Given the description of an element on the screen output the (x, y) to click on. 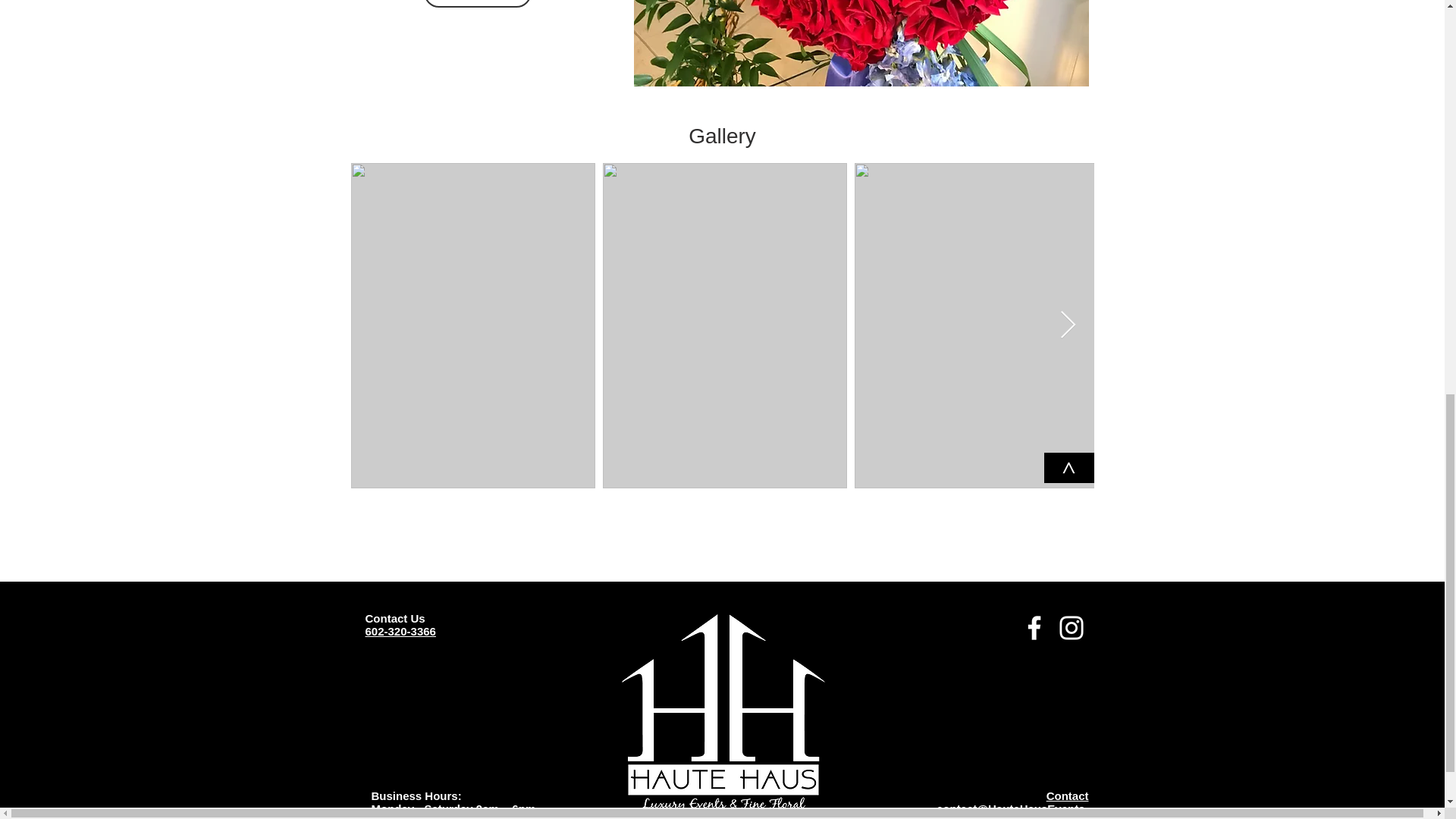
602-320-3366 (400, 631)
Contact (1067, 795)
Shop (477, 3)
